Given the description of an element on the screen output the (x, y) to click on. 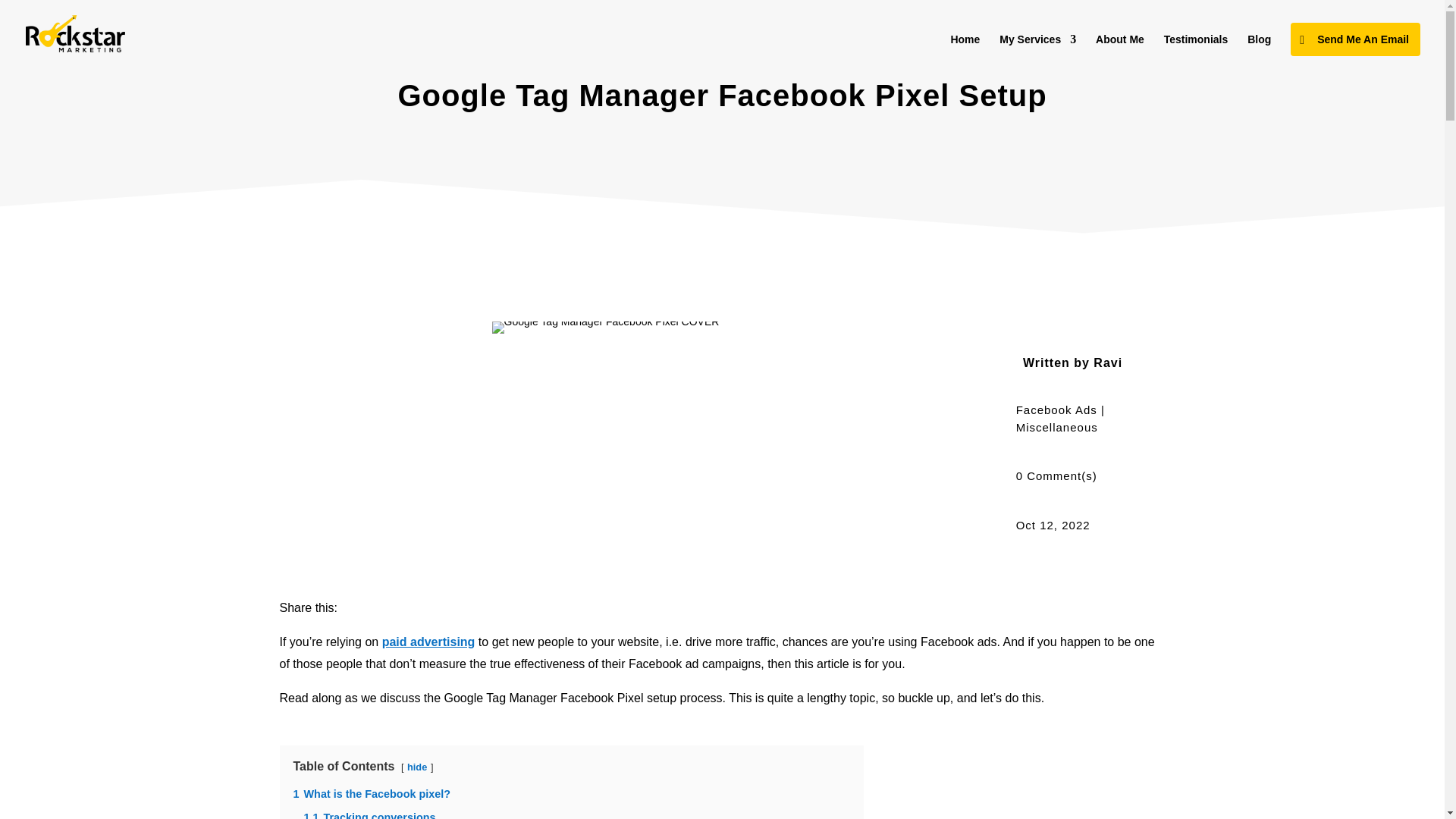
Home (964, 50)
Send Me An Email (1355, 39)
Facebook Ads (1056, 409)
1.1 Tracking conversions (368, 815)
hide (416, 767)
Blog (1259, 50)
paid advertising (428, 641)
Testimonials (1195, 50)
About Me (1120, 50)
Google-Tag-Manager-Facebook-Pixel-COVER (605, 327)
My Services (1036, 50)
1 What is the Facebook pixel? (370, 793)
Miscellaneous (1056, 427)
